Given the description of an element on the screen output the (x, y) to click on. 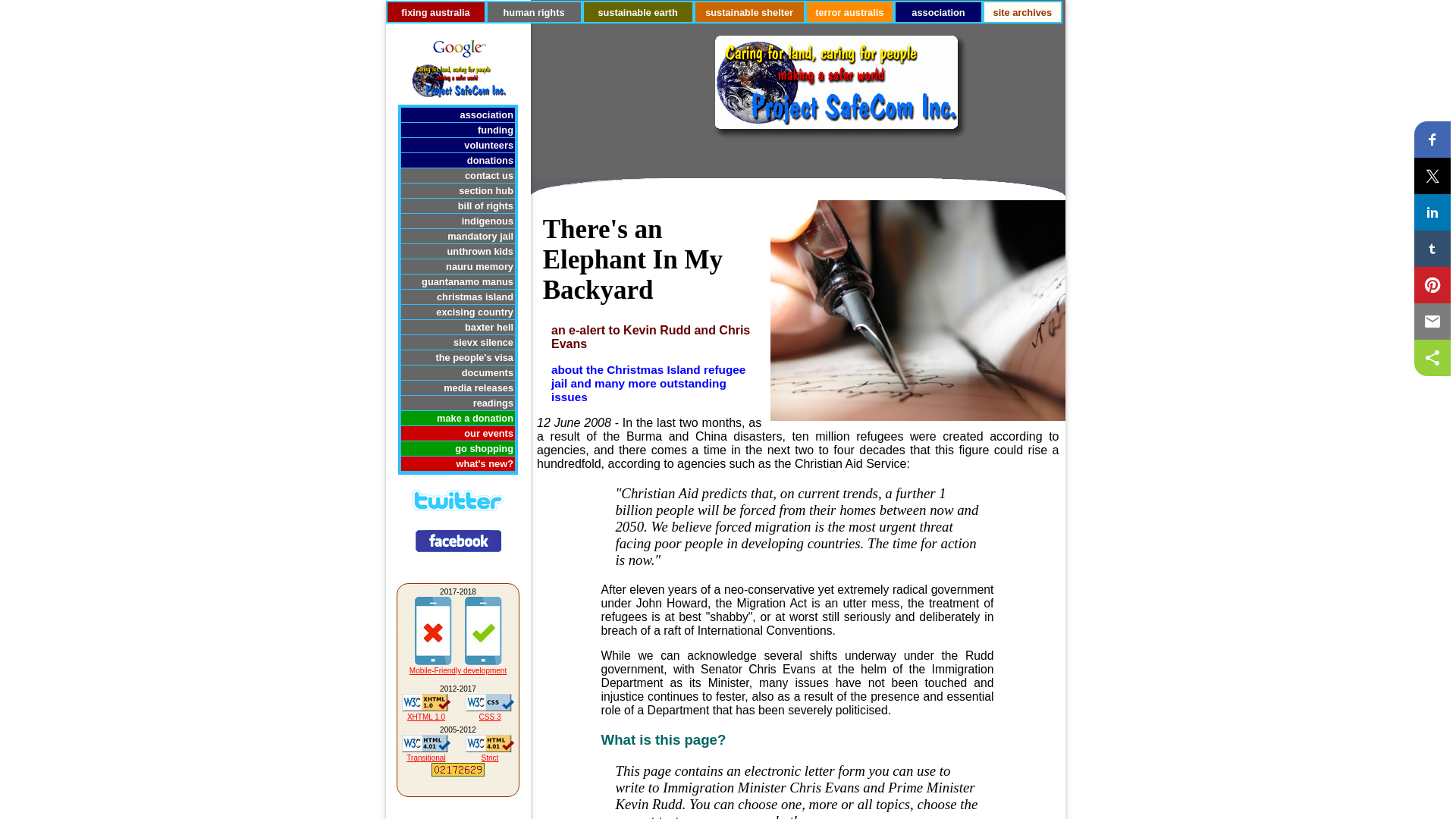
media releases (458, 387)
association (458, 114)
indigenous (458, 221)
our events (458, 433)
